Given the description of an element on the screen output the (x, y) to click on. 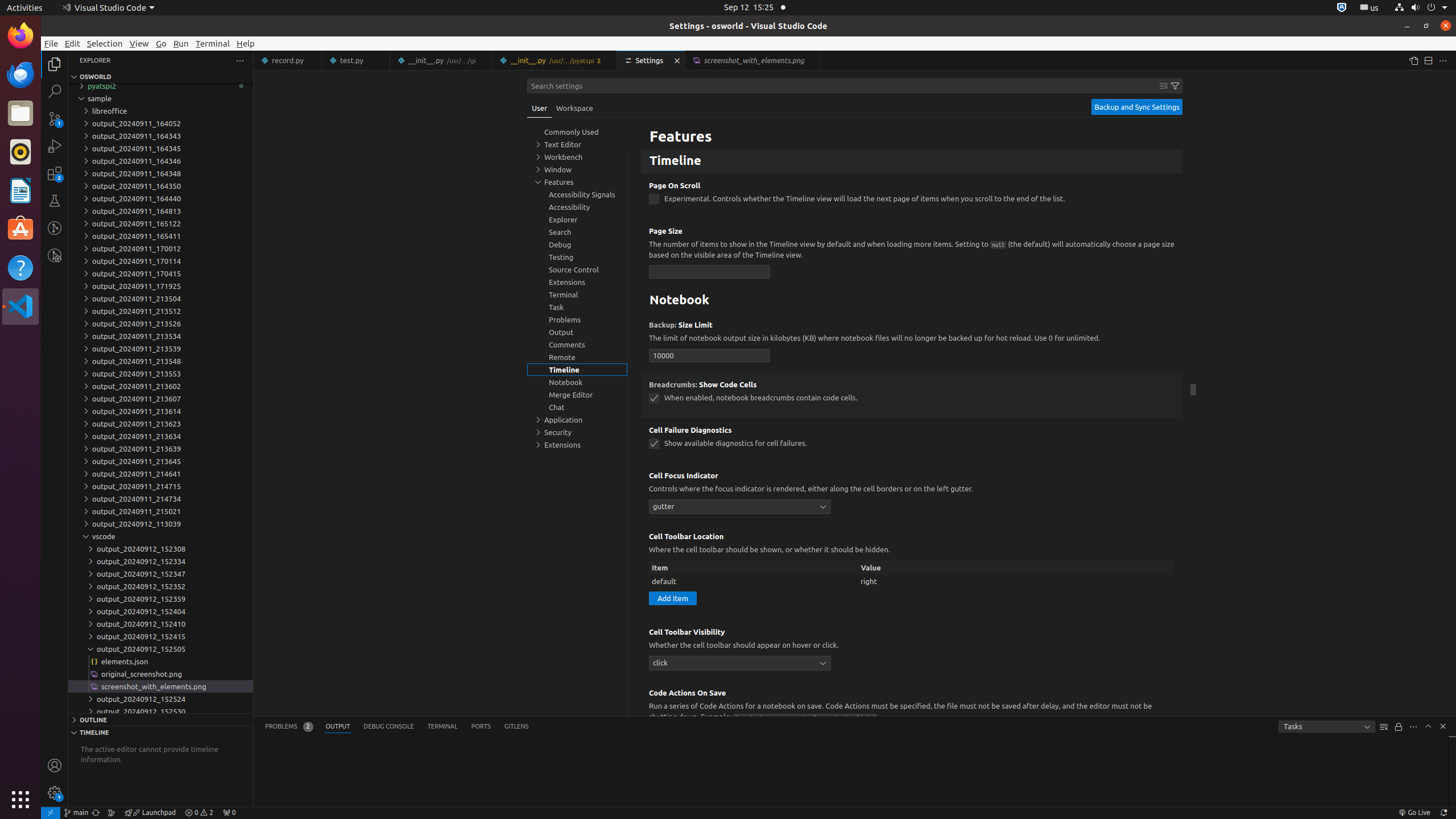
Firefox Web Browser Element type: push-button (20, 35)
Accessibility, group Element type: tree-item (577, 206)
OSWorld (Git) - Synchronize Changes Element type: push-button (95, 812)
Add Item Element type: push-button (672, 597)
Notebook Element type: tree-item (911, 300)
